Given the description of an element on the screen output the (x, y) to click on. 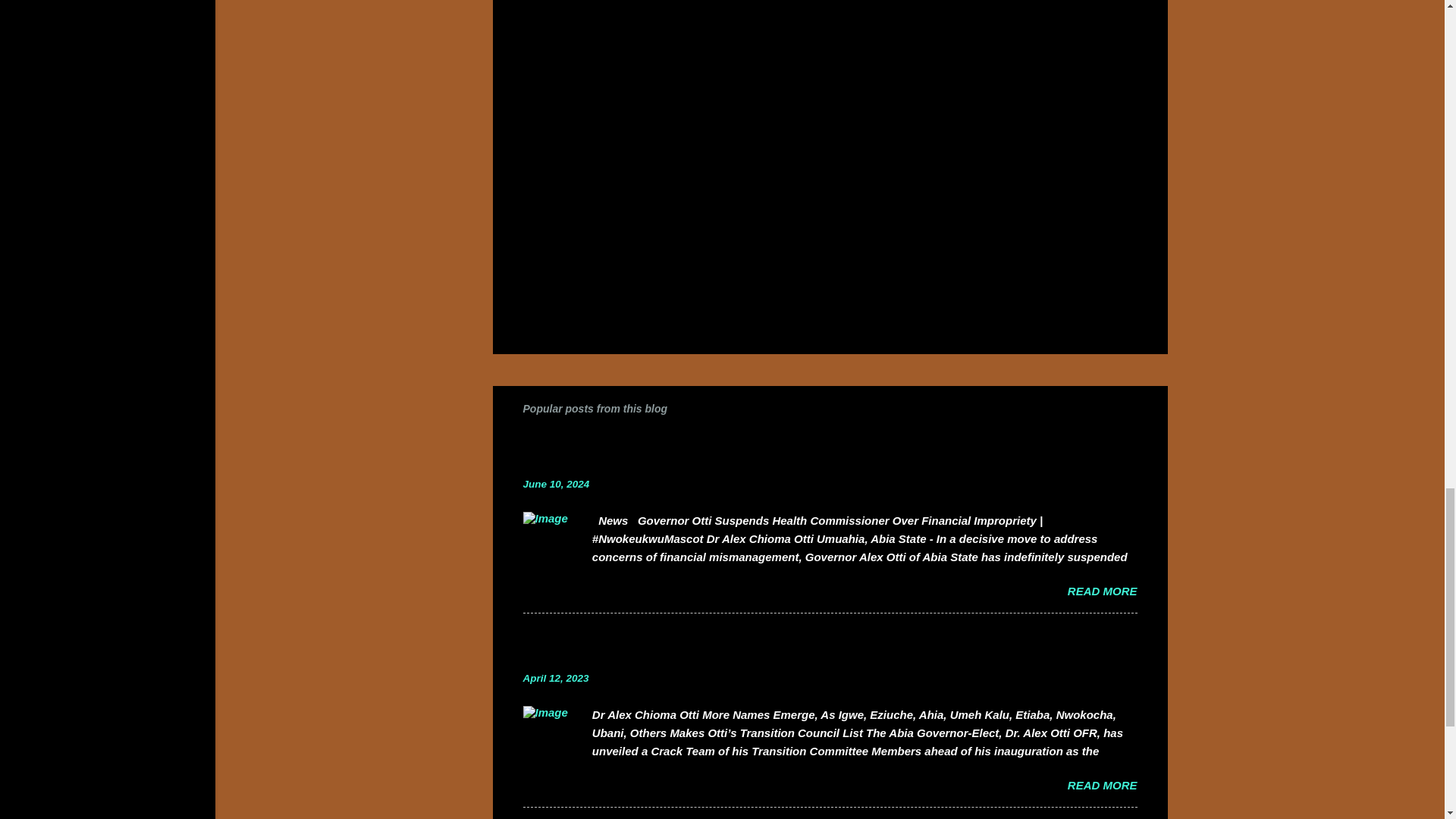
April 12, 2023 (555, 677)
READ MORE (1102, 590)
READ MORE (1102, 784)
June 10, 2024 (555, 483)
